Given the description of an element on the screen output the (x, y) to click on. 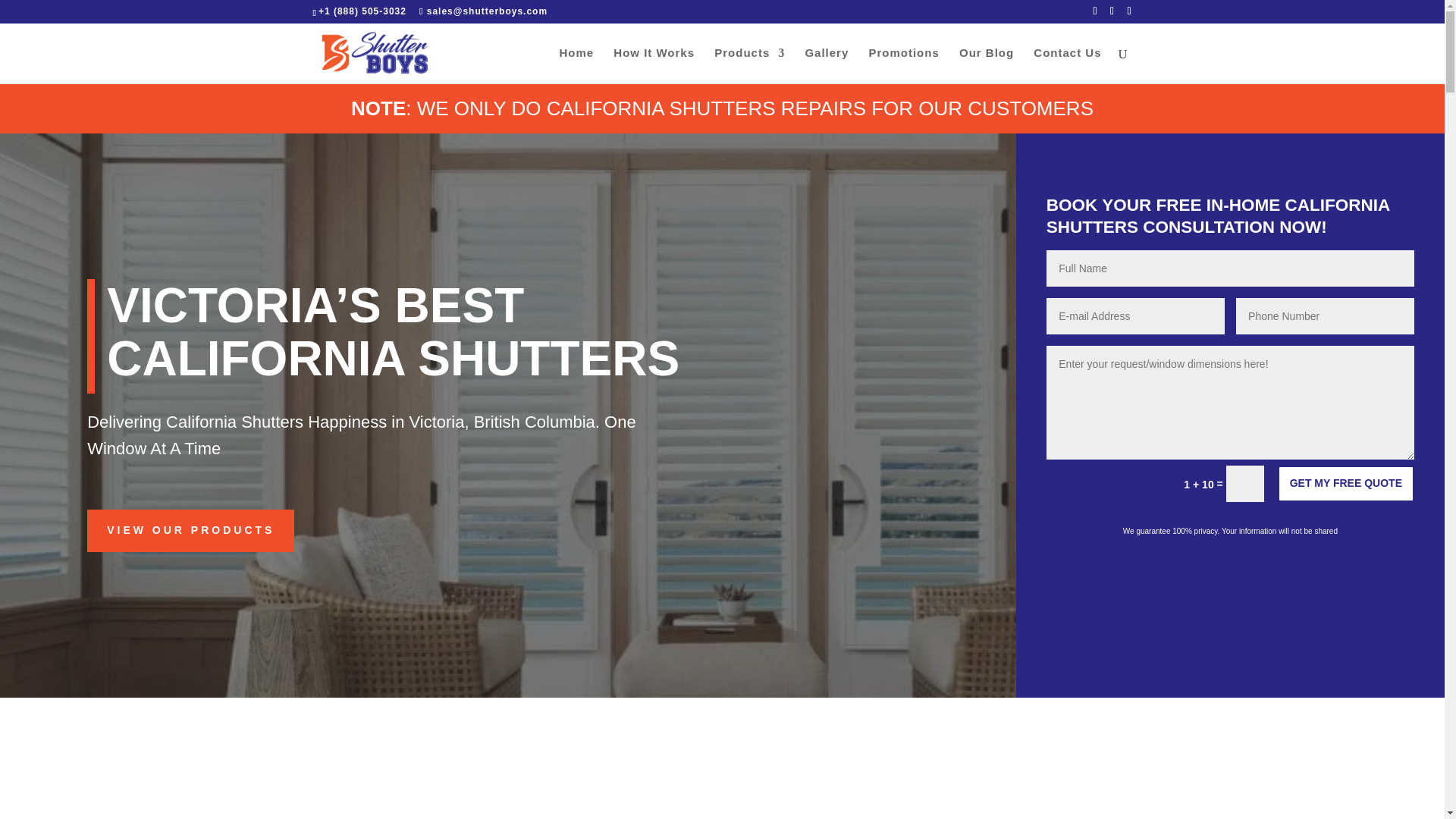
Gallery (826, 65)
GET MY FREE QUOTE (1345, 484)
Contact Us (1066, 65)
VIEW OUR PRODUCTS (190, 530)
Home (576, 65)
Our Blog (986, 65)
How It Works (653, 65)
Only numbers allowed. (1324, 316)
Promotions (903, 65)
Products (749, 65)
